Given the description of an element on the screen output the (x, y) to click on. 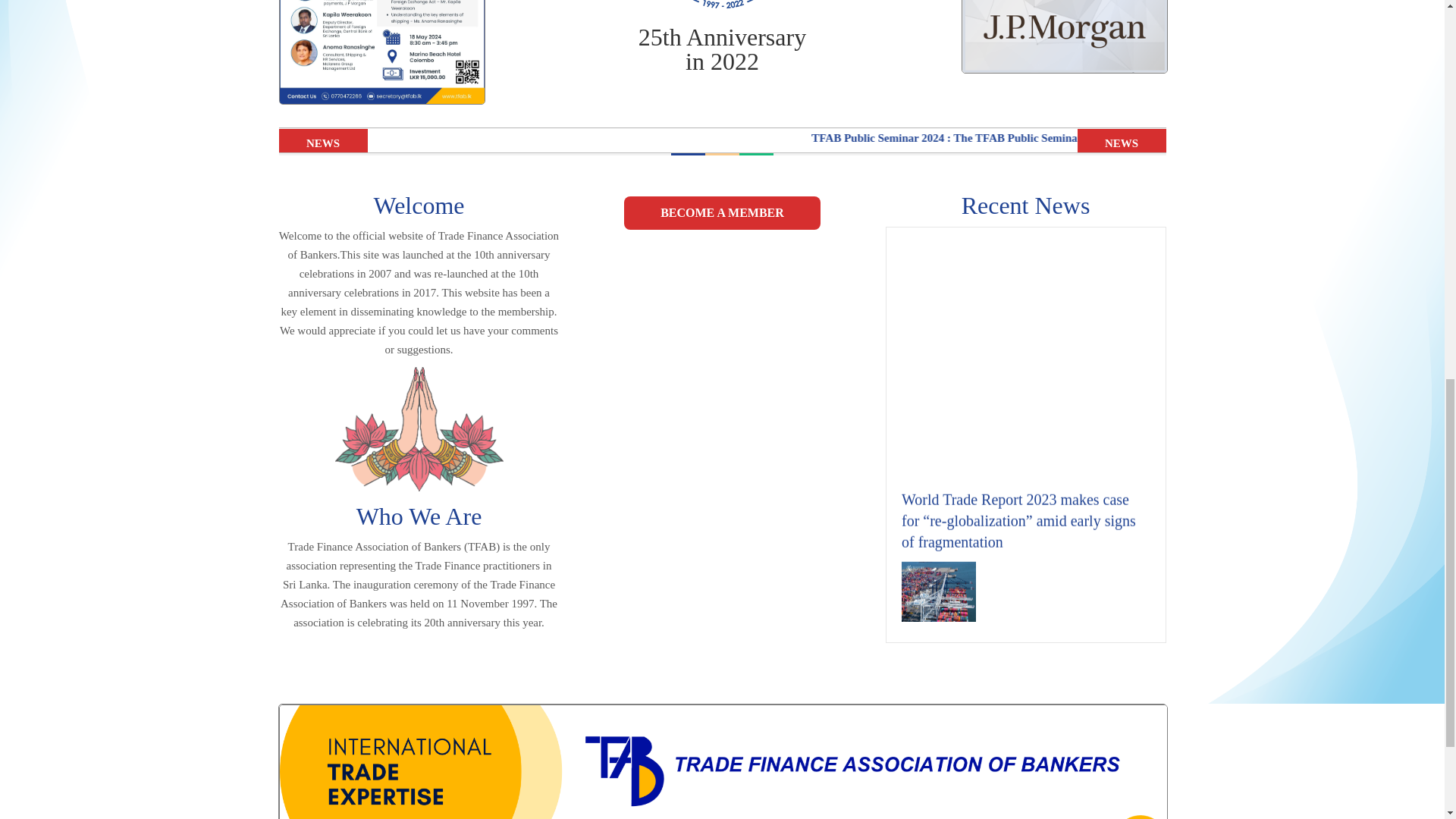
BECOME A MEMBER (722, 213)
BECOME A MEMBER (722, 213)
